Given the description of an element on the screen output the (x, y) to click on. 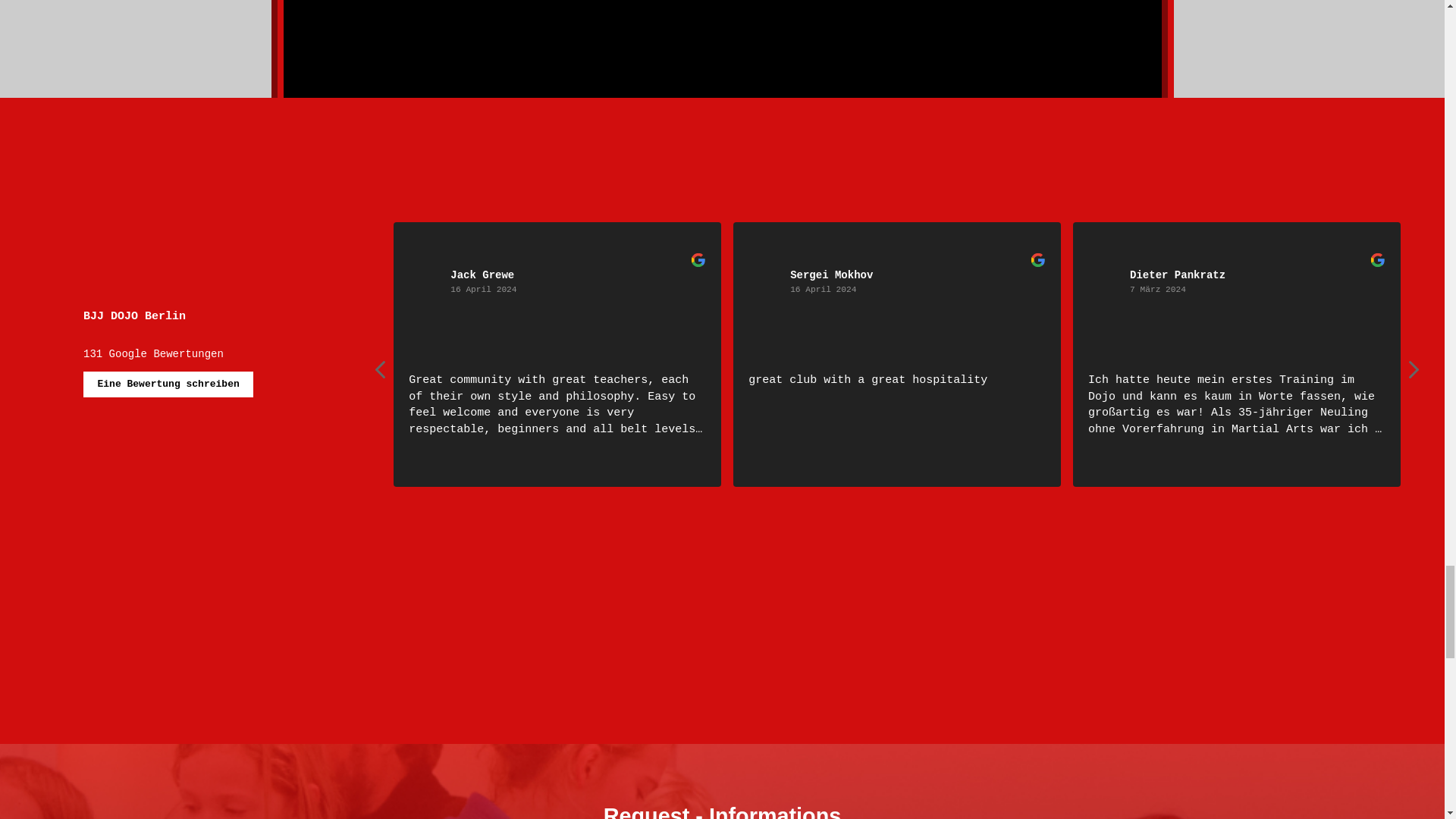
Eine Bewertung schreiben (167, 384)
